Given the description of an element on the screen output the (x, y) to click on. 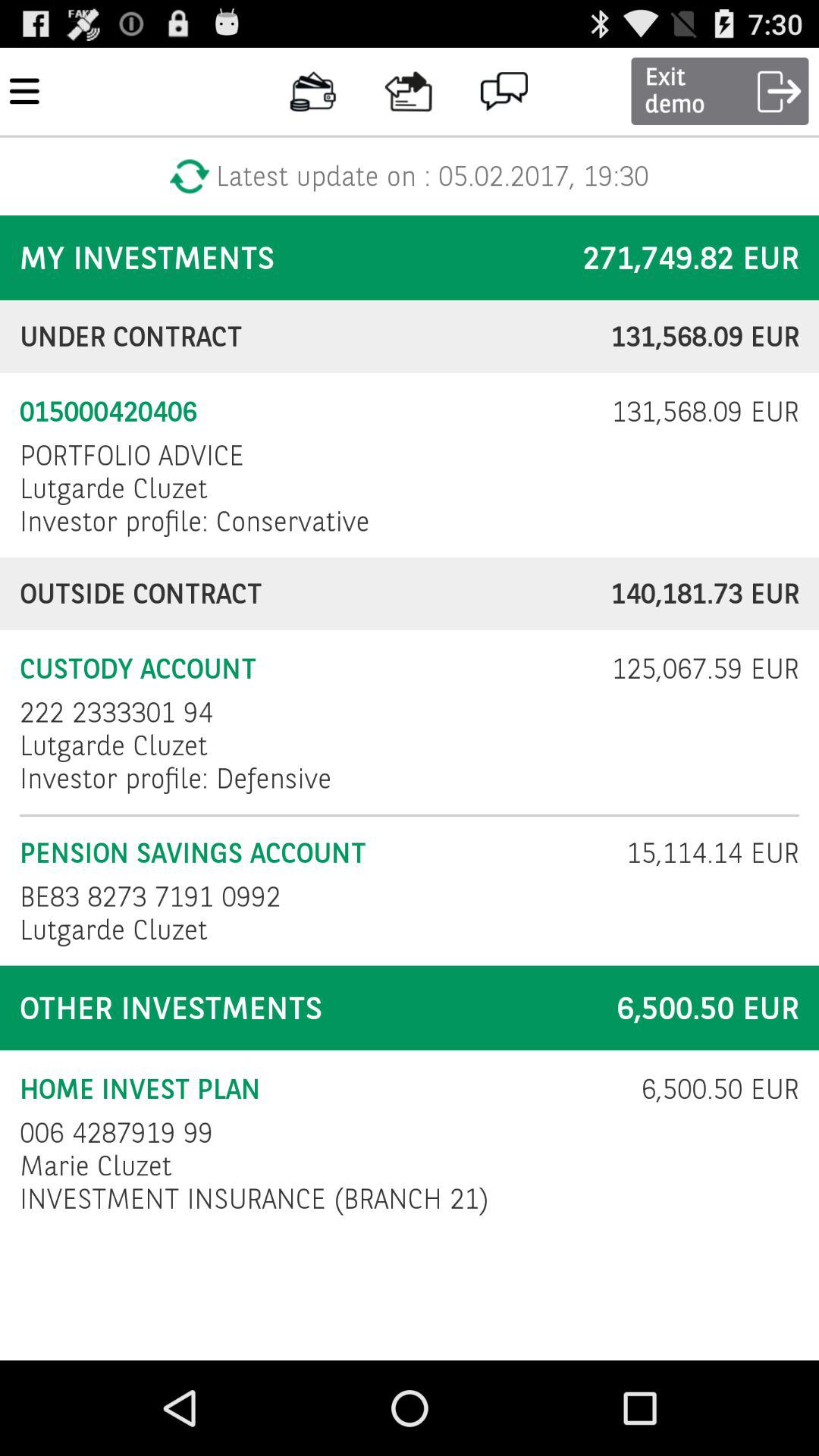
press the 125 067 59 checkbox (695, 668)
